Given the description of an element on the screen output the (x, y) to click on. 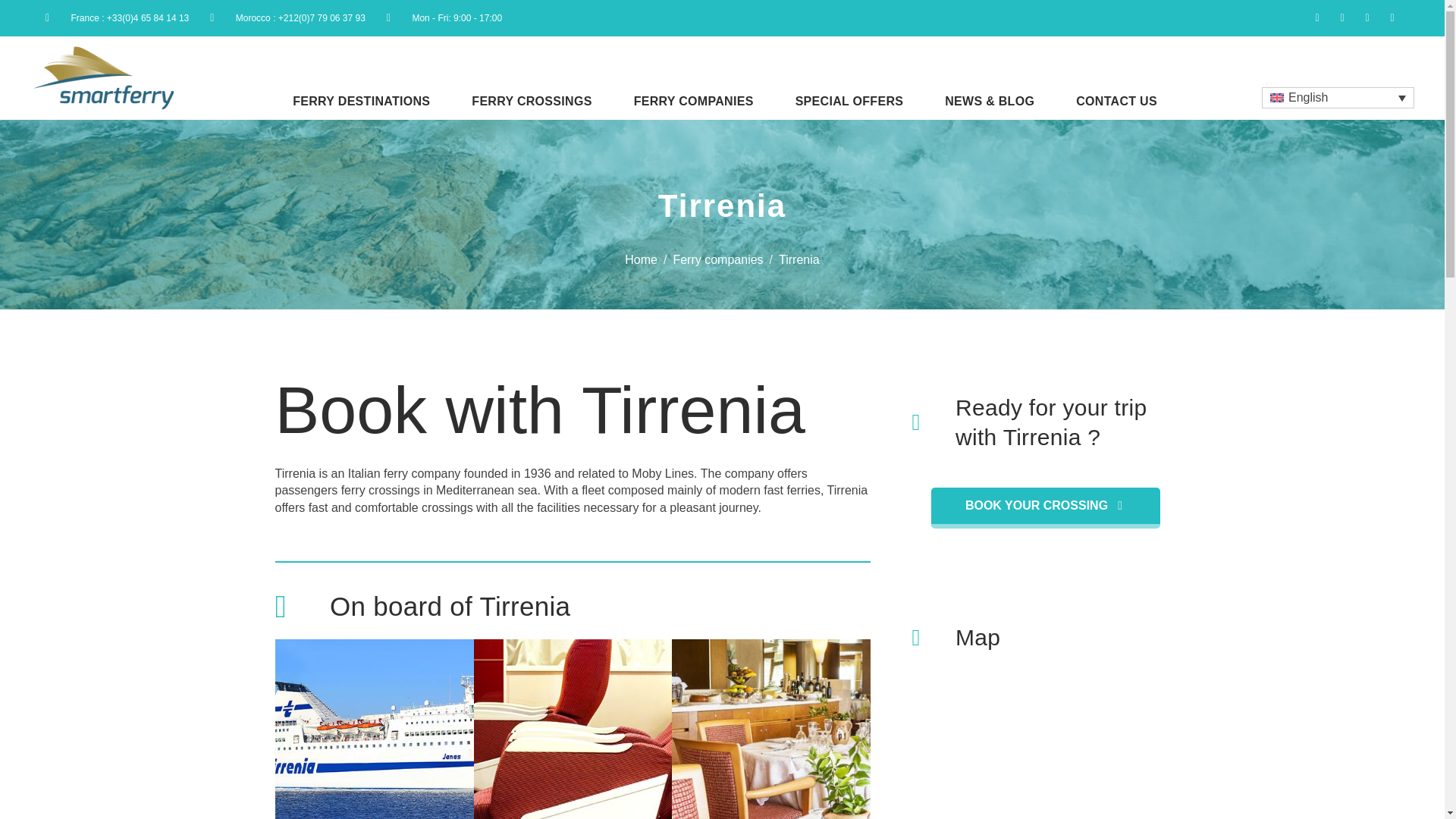
FERRY CROSSINGS (531, 98)
English (1337, 97)
CONTACT US (1116, 98)
BOOK YOUR CROSSING (1045, 507)
SPECIAL OFFERS (849, 98)
Ferry companies (717, 259)
FERRY DESTINATIONS (360, 98)
Home (641, 259)
FERRY COMPANIES (693, 98)
Tirrenia 2 (572, 729)
